Given the description of an element on the screen output the (x, y) to click on. 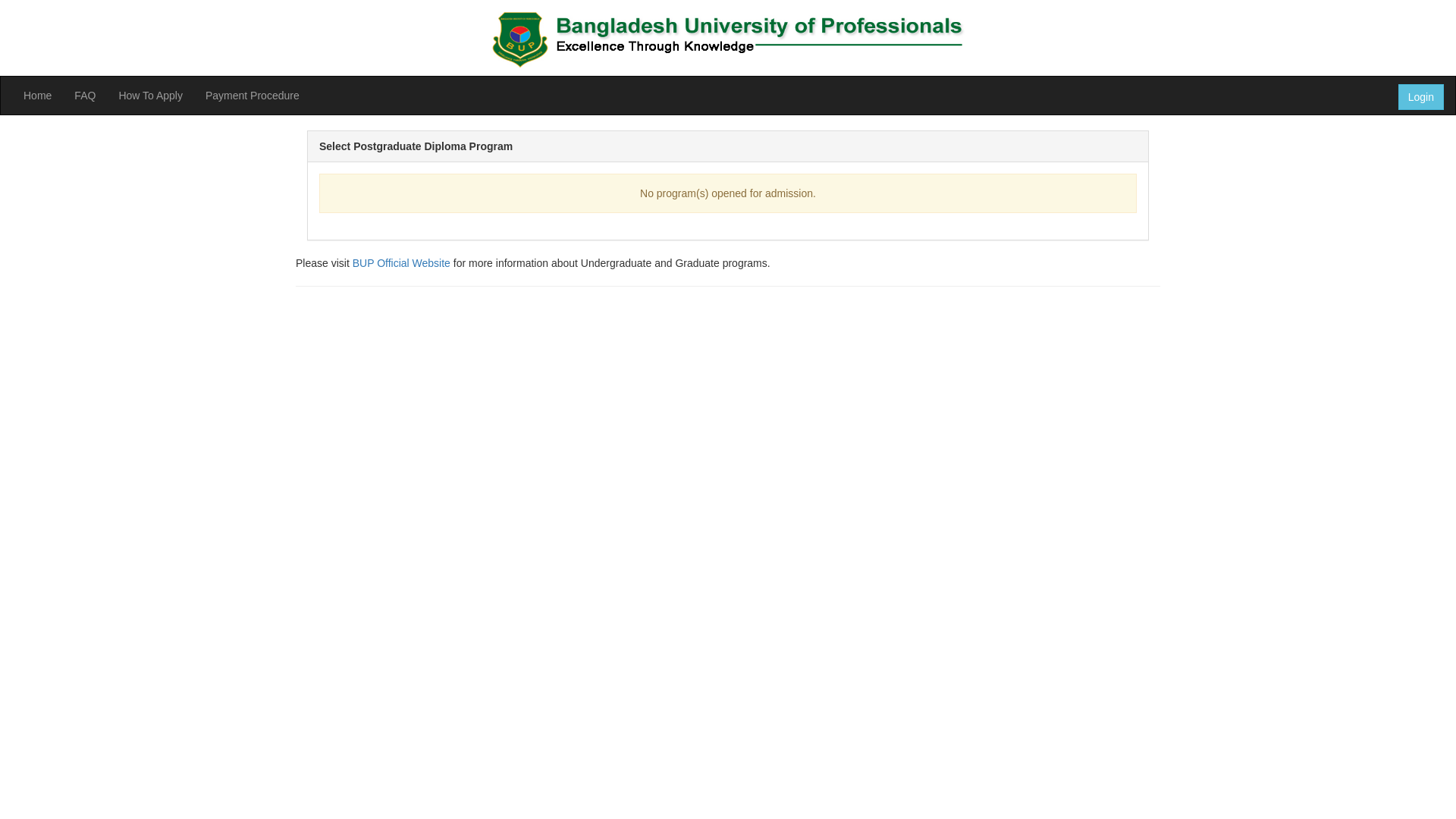
How To Apply Element type: text (150, 95)
Home Element type: text (37, 95)
BUP Official Website Element type: text (402, 263)
FAQ Element type: text (84, 95)
Payment Procedure Element type: text (252, 95)
Login Element type: text (1420, 96)
